Given the description of an element on the screen output the (x, y) to click on. 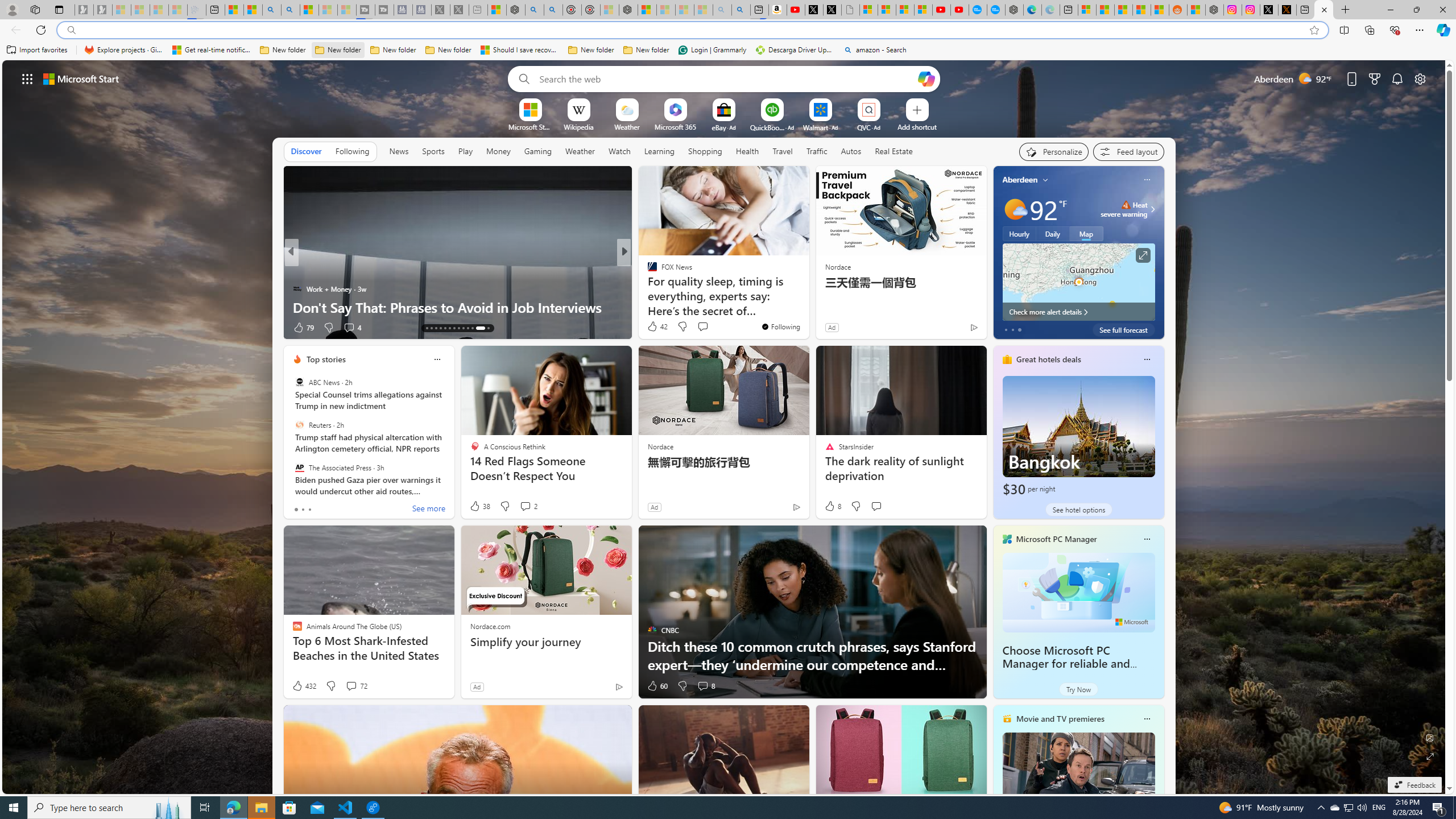
Larger map  (1077, 282)
Feed settings (1128, 151)
View comments 8 Comment (705, 685)
Shopping (705, 151)
